Given the description of an element on the screen output the (x, y) to click on. 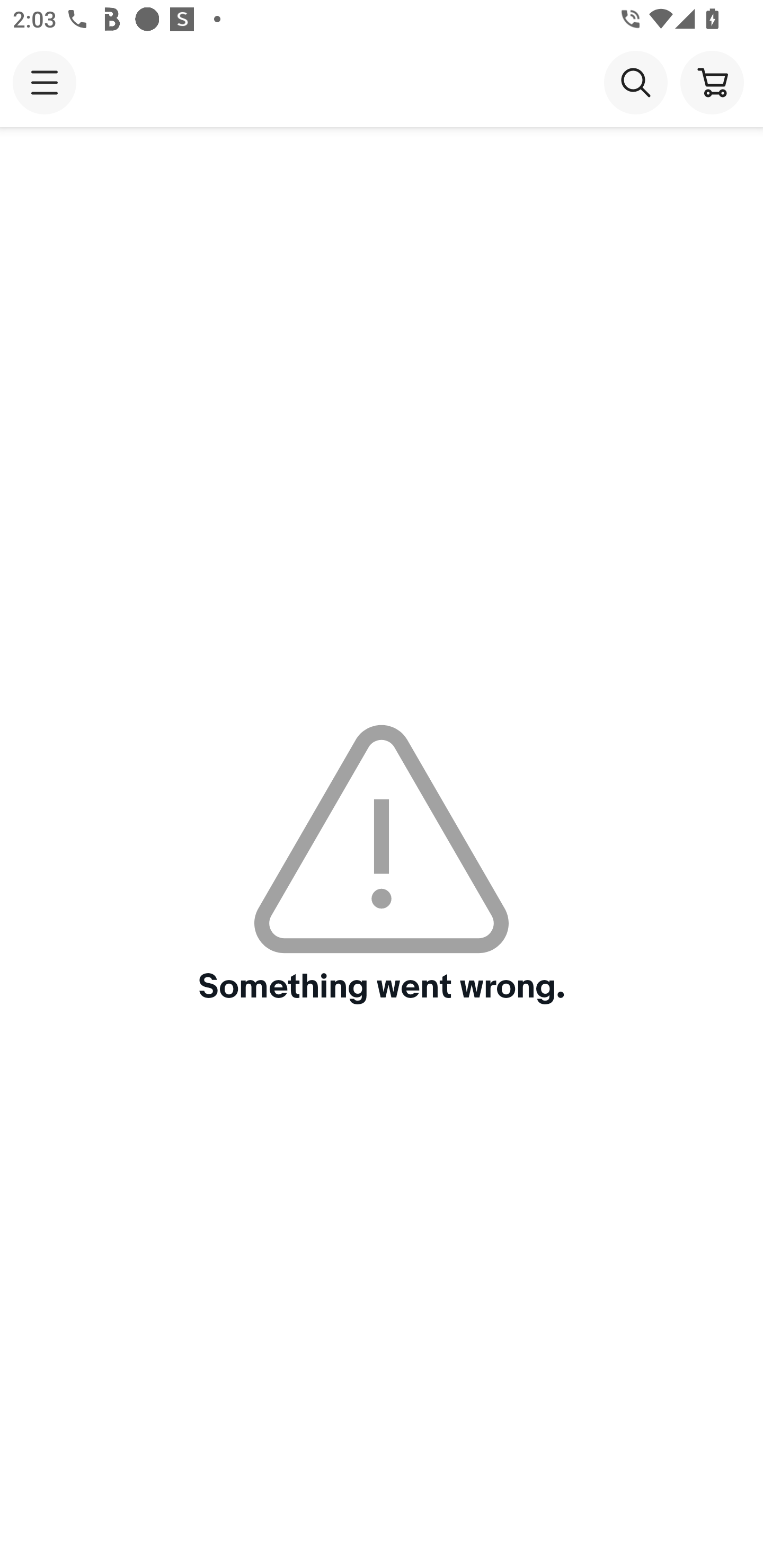
Main navigation, open (44, 82)
Search (635, 81)
Cart button shopping cart (711, 81)
